Given the description of an element on the screen output the (x, y) to click on. 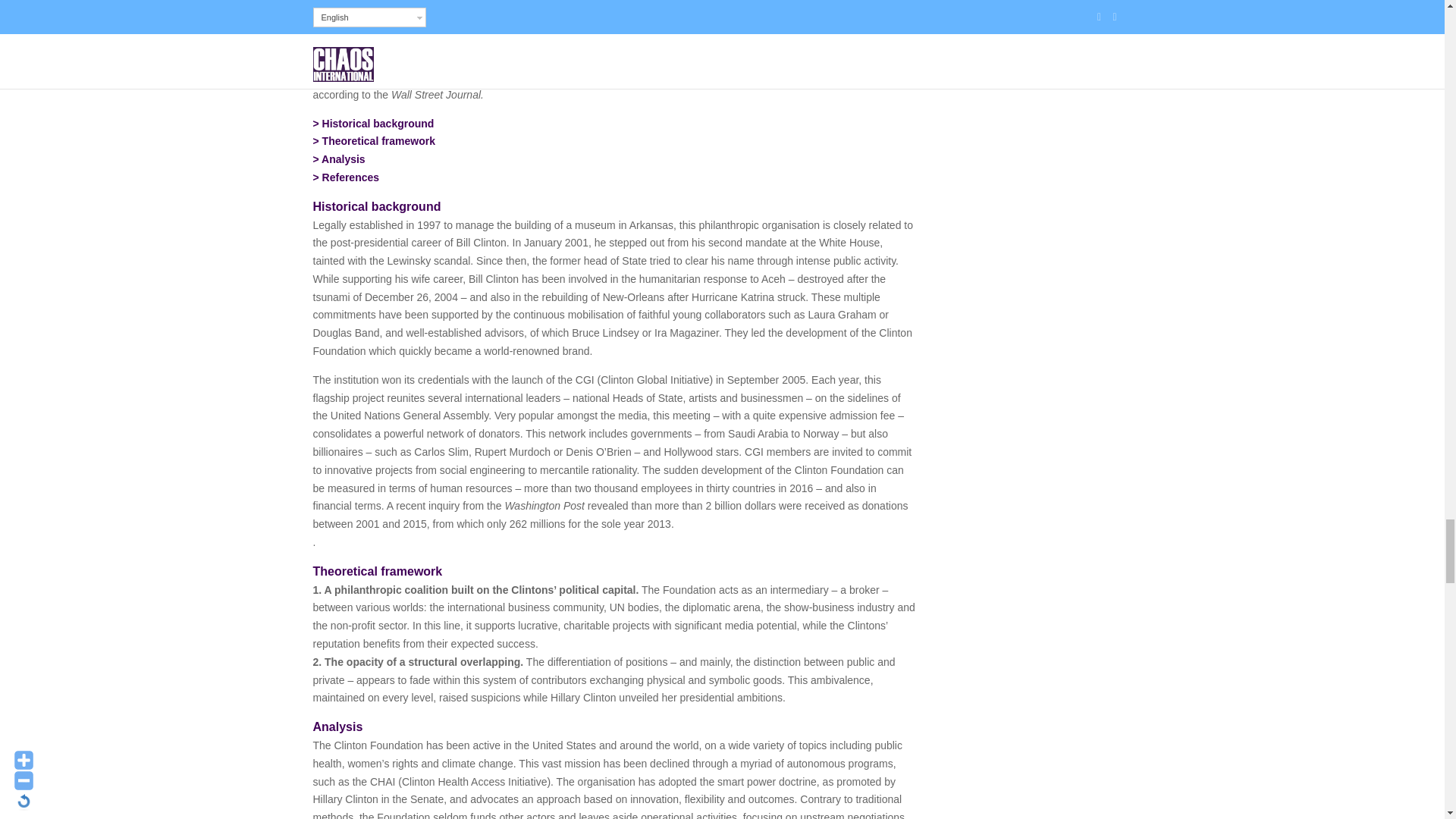
Cadrage (378, 141)
Rappel (377, 123)
Analyse (343, 159)
